Given the description of an element on the screen output the (x, y) to click on. 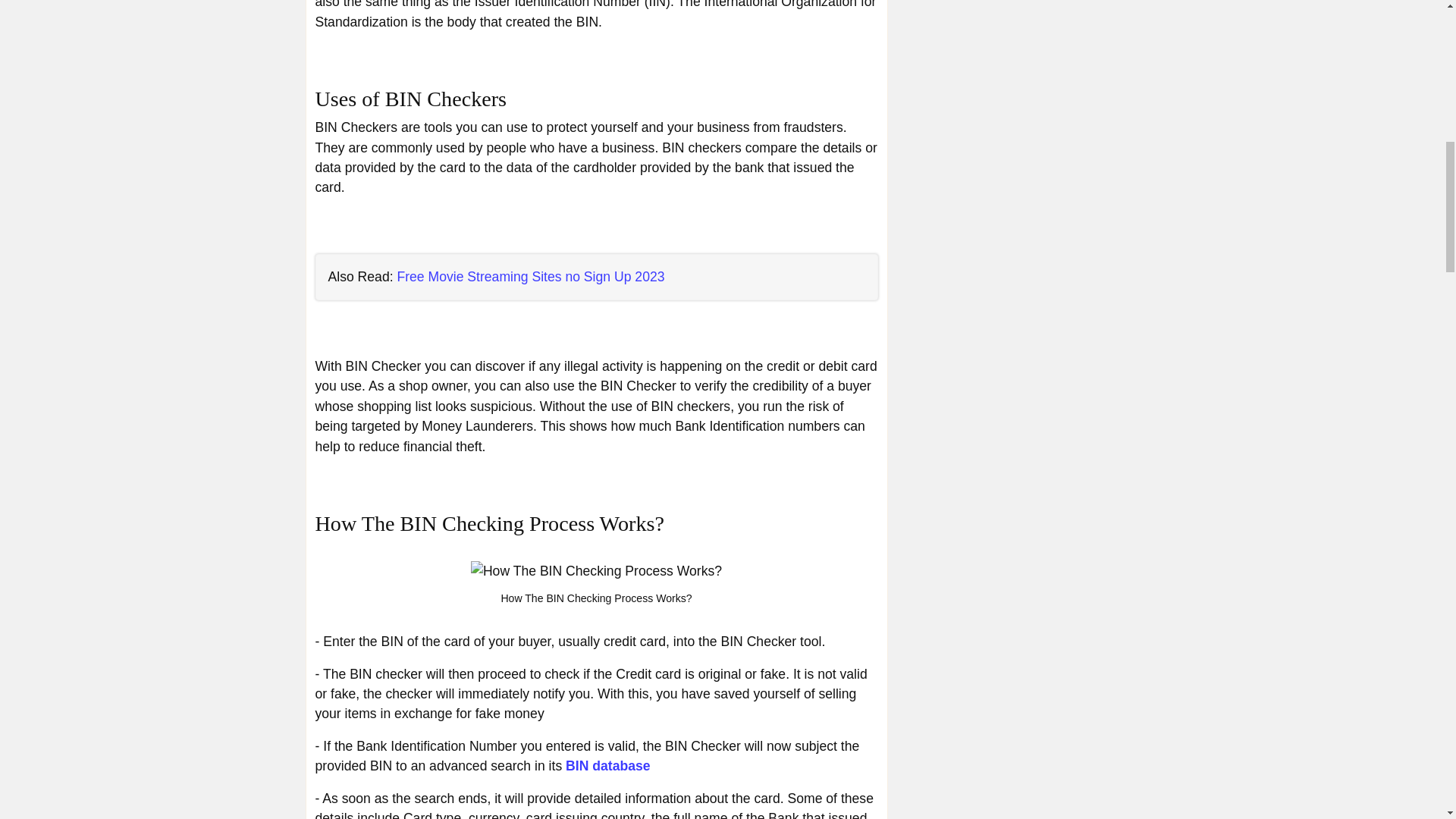
BIN database (607, 765)
Advertisement (1024, 39)
Free Movie Streaming Sites no Sign Up 2023 (529, 276)
